Given the description of an element on the screen output the (x, y) to click on. 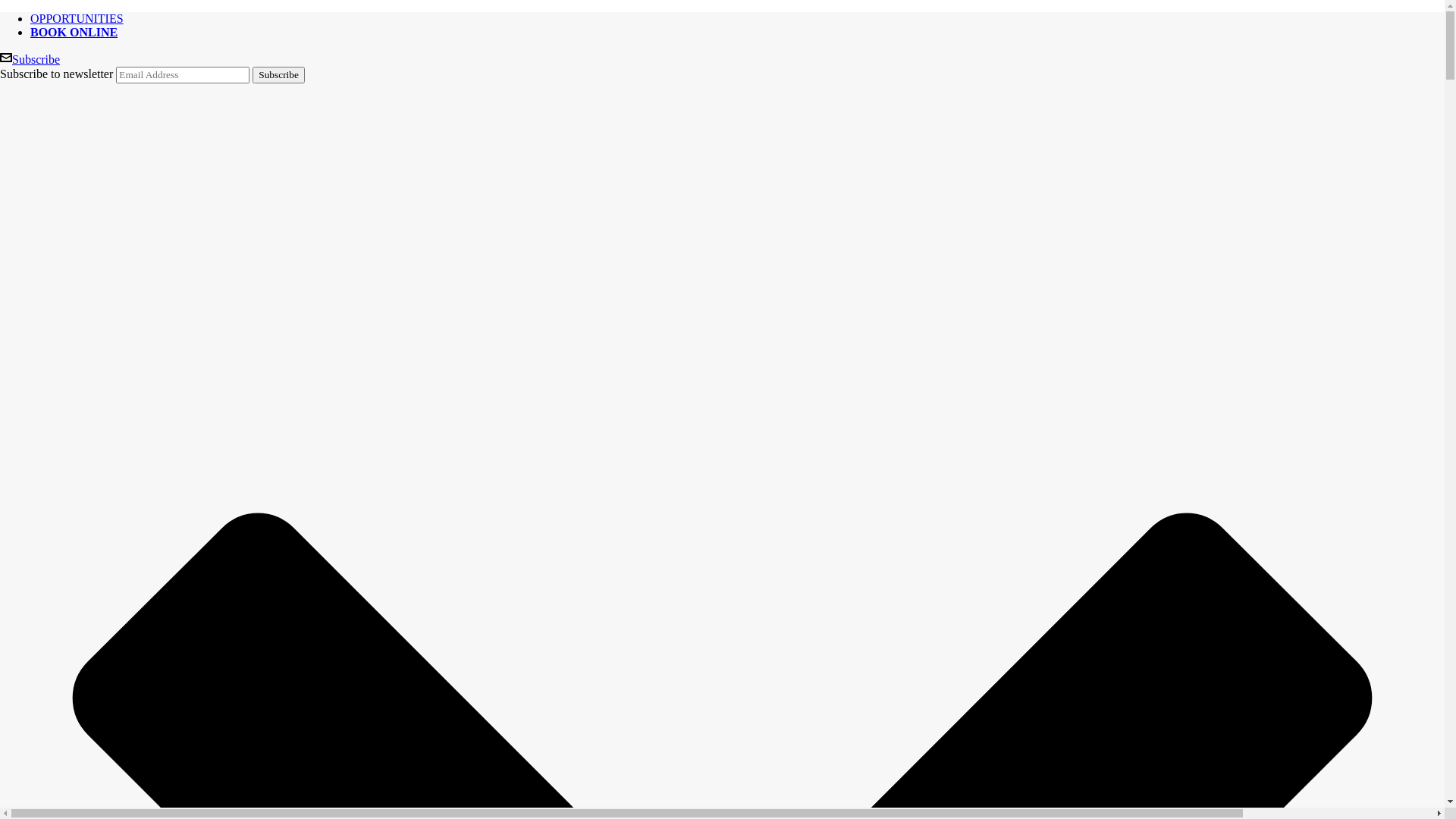
Subscribe Element type: text (278, 74)
BOOK ONLINE Element type: text (73, 31)
Subscribe Element type: text (29, 59)
OPPORTUNITIES Element type: text (76, 18)
